Given the description of an element on the screen output the (x, y) to click on. 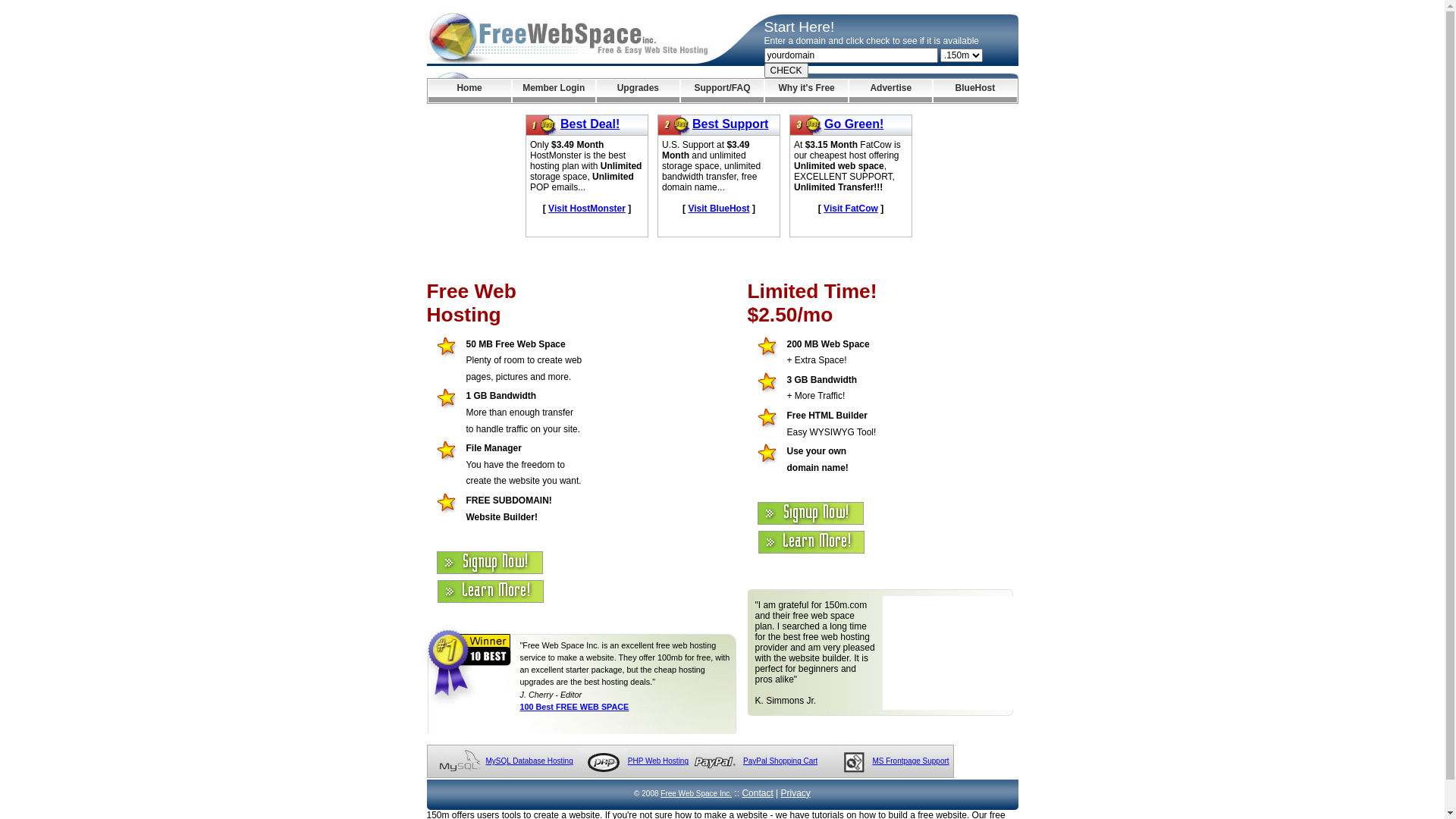
100 Best FREE WEB SPACE Element type: text (574, 706)
CHECK Element type: text (786, 70)
Free Web Space Inc. Element type: text (695, 793)
Contact Element type: text (756, 792)
Support/FAQ Element type: text (721, 90)
MySQL Database Hosting Element type: text (528, 760)
Home Element type: text (468, 90)
Upgrades Element type: text (637, 90)
PayPal Shopping Cart Element type: text (780, 760)
Member Login Element type: text (553, 90)
MS Frontpage Support Element type: text (910, 760)
Advertise Element type: text (890, 90)
Why it's Free Element type: text (806, 90)
BlueHost Element type: text (974, 90)
PHP Web Hosting Element type: text (657, 760)
Privacy Element type: text (795, 792)
